Given the description of an element on the screen output the (x, y) to click on. 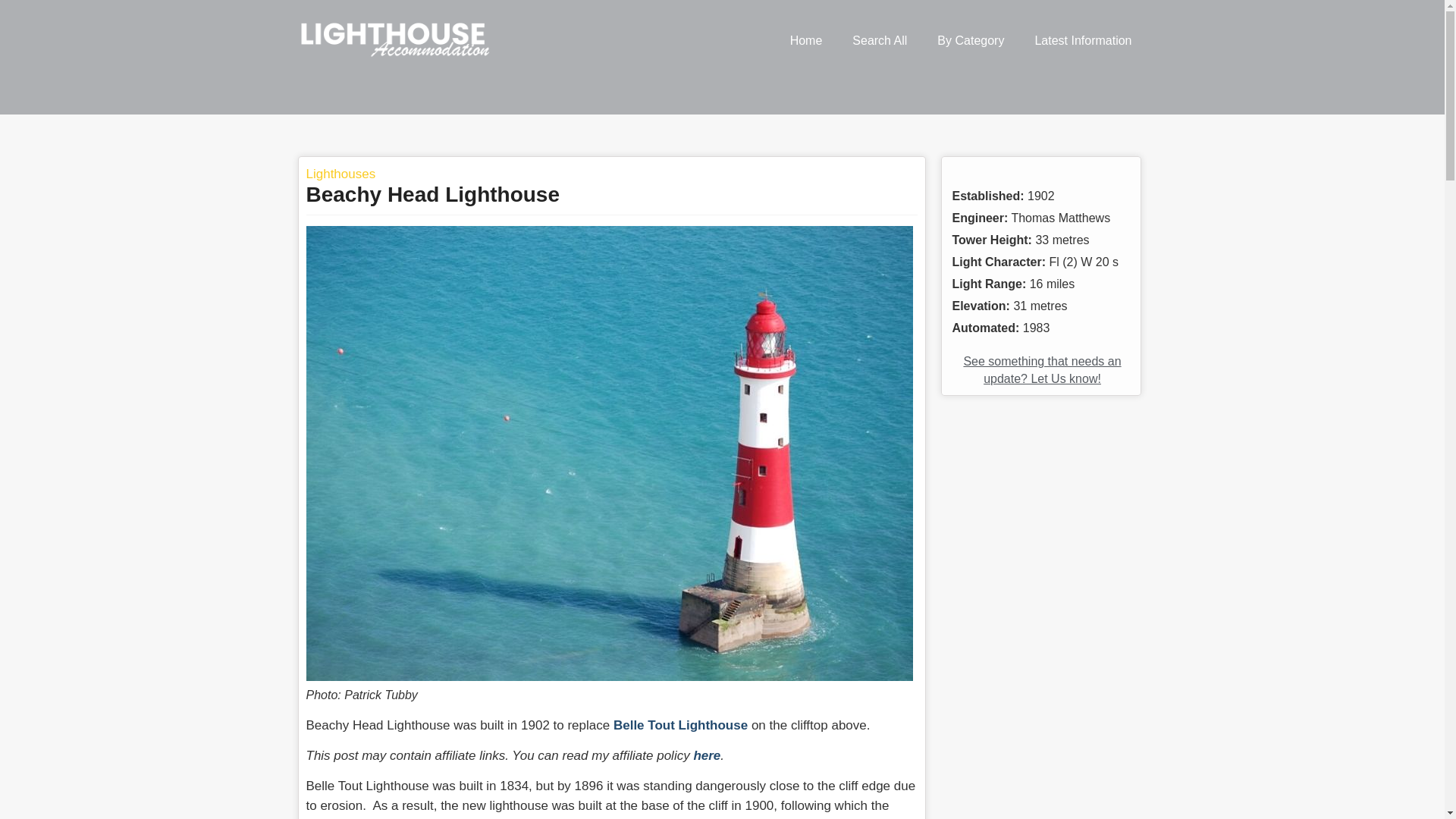
Lighthouses (340, 174)
Home (806, 40)
Belle Tout Lighthouse (681, 725)
here (706, 755)
By Category (970, 40)
Latest Information (1083, 40)
Search All (879, 40)
